Given the description of an element on the screen output the (x, y) to click on. 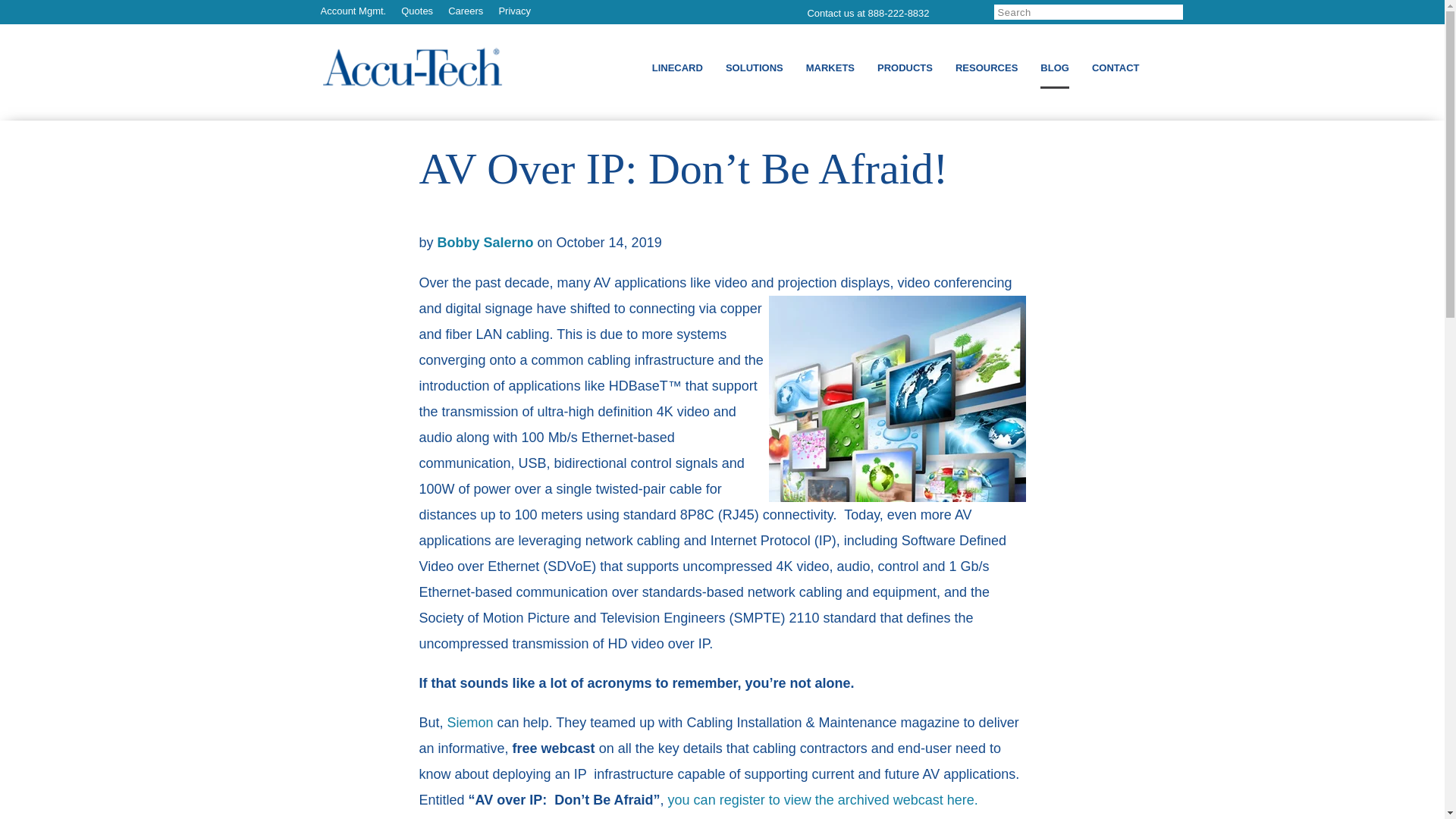
Quotes (416, 11)
LINECARD (677, 67)
Account Mgmt. (352, 11)
MARKETS (830, 67)
SOLUTIONS (754, 67)
888-222-8832 (898, 12)
Careers (465, 11)
ATC Header Logo.png (412, 69)
CONTACT (1116, 67)
Bobby Salerno (486, 242)
RESOURCES (986, 67)
PRODUCTS (905, 67)
Privacy (514, 11)
